Given the description of an element on the screen output the (x, y) to click on. 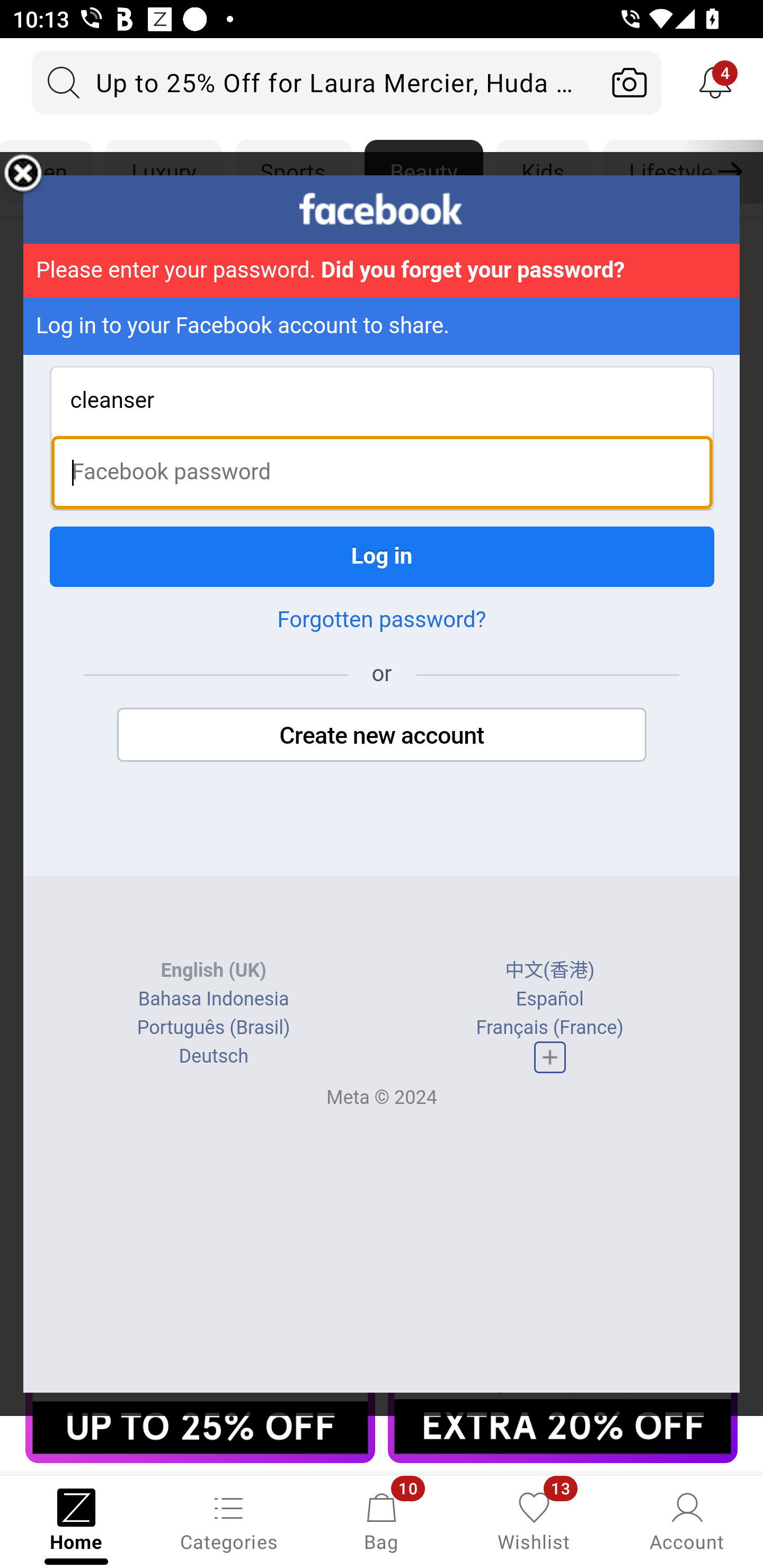
facebook (381, 208)
Did you forget your password? (472, 270)
cleanser (381, 400)
Log in (381, 556)
Forgotten password? (381, 619)
Create new account (381, 734)
中文(香港) (550, 970)
Bahasa Indonesia (214, 999)
Español (549, 999)
Português (Brasil) (212, 1027)
Français (France) (549, 1027)
Complete list of languages (548, 1056)
Deutsch (212, 1055)
